Given the description of an element on the screen output the (x, y) to click on. 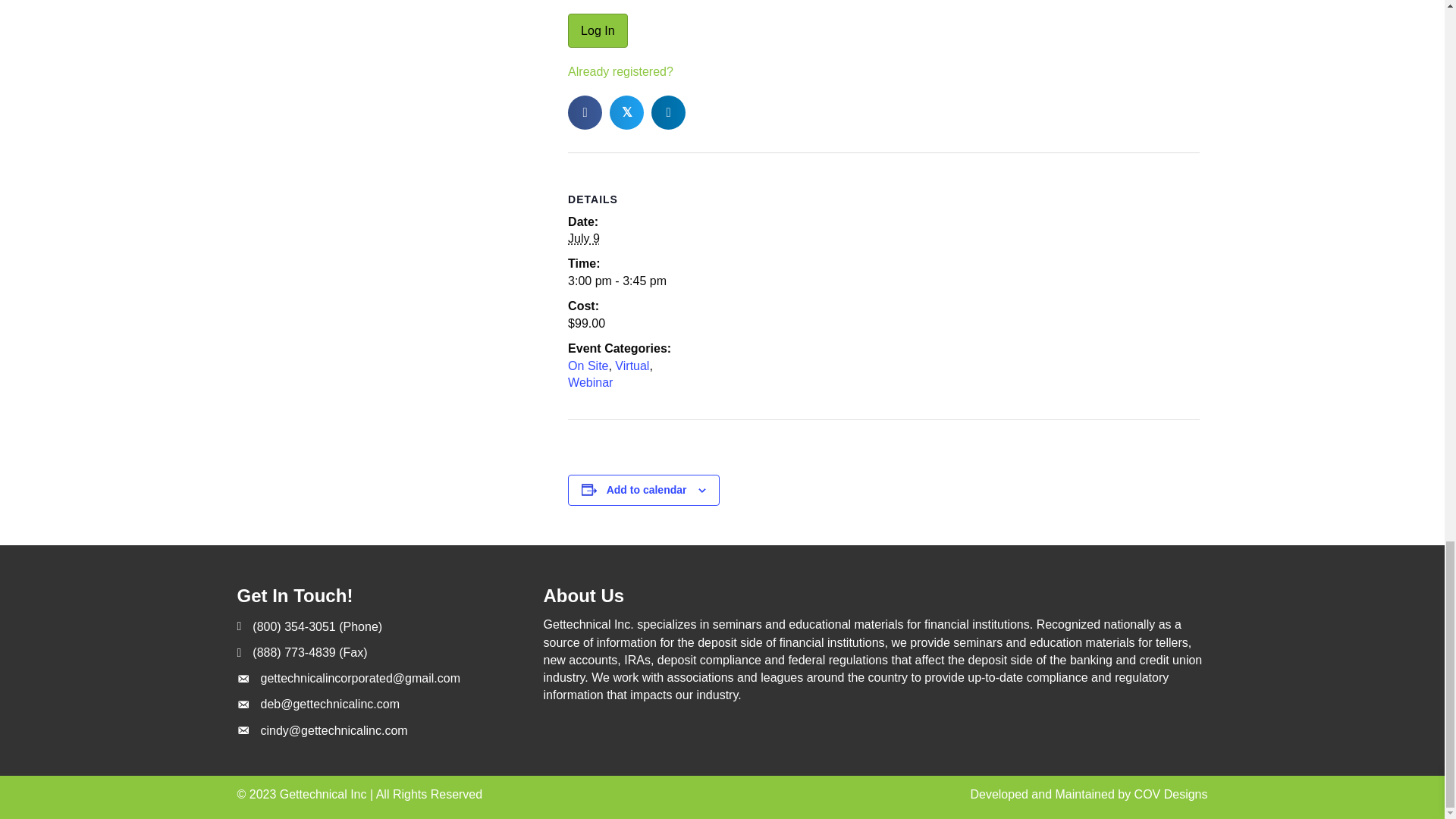
Log In (597, 30)
2024-07-09 (583, 237)
